Given the description of an element on the screen output the (x, y) to click on. 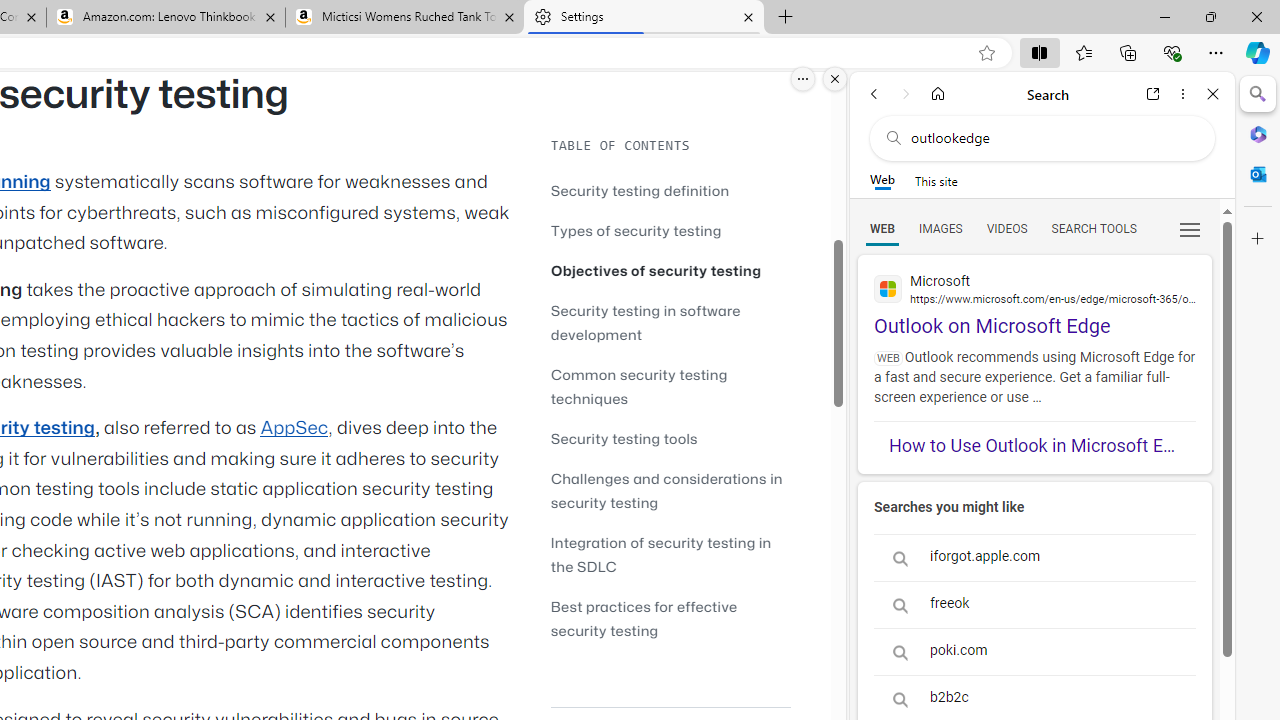
freeok (1034, 604)
Common security testing techniques (670, 386)
Types of security testing (670, 230)
Types of security testing (635, 230)
Objectives of security testing (670, 269)
